Given the description of an element on the screen output the (x, y) to click on. 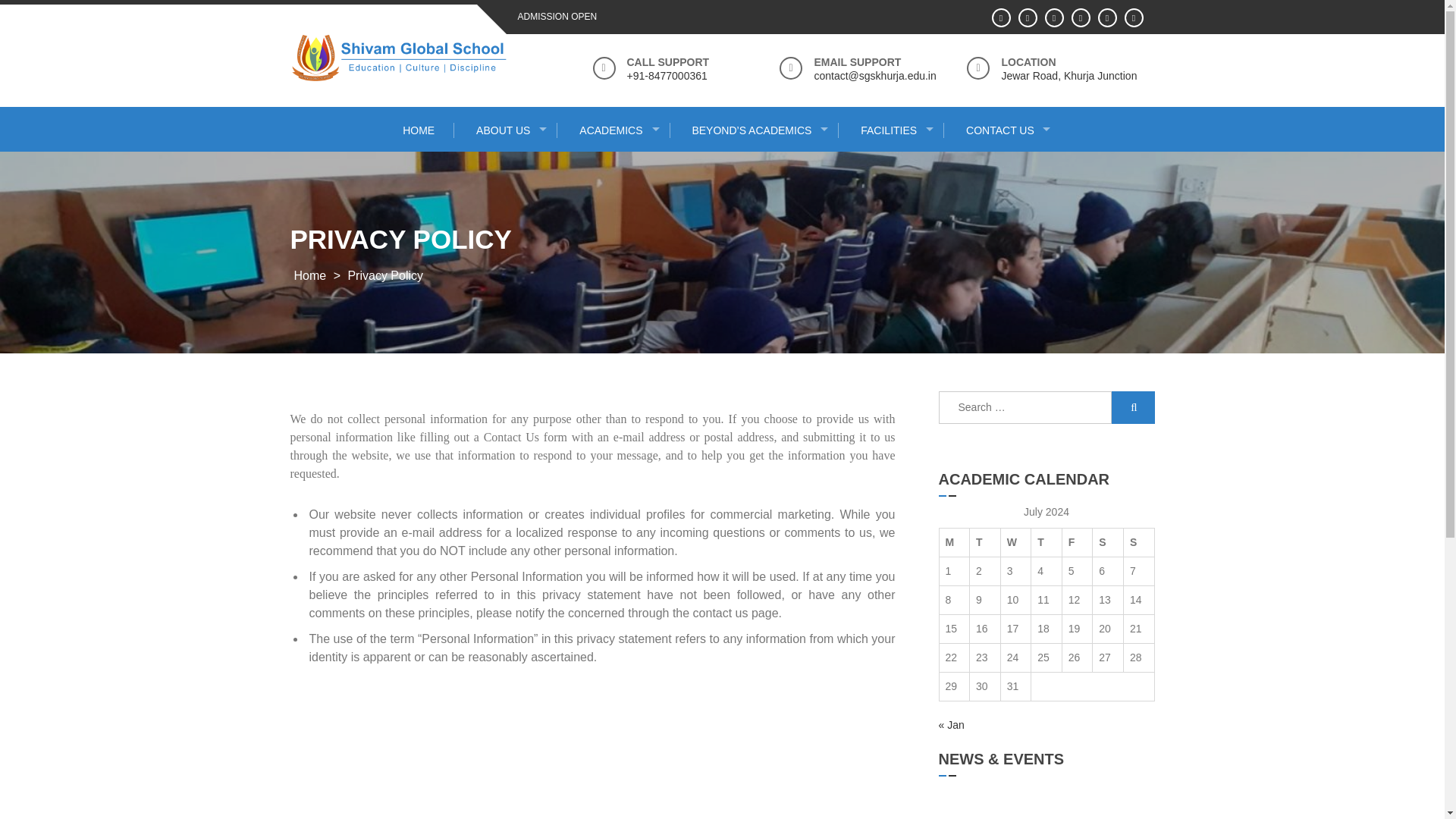
Wednesday (1015, 541)
Thursday (1046, 541)
Tuesday (985, 541)
CONTACT US (1004, 130)
Search (1133, 407)
Search (1133, 407)
FACILITIES (892, 130)
ACADEMICS (614, 130)
HOME (419, 130)
Friday (1077, 541)
Sunday (1138, 541)
Home (309, 274)
Monday (954, 541)
ABOUT US (507, 130)
Saturday (1108, 541)
